Given the description of an element on the screen output the (x, y) to click on. 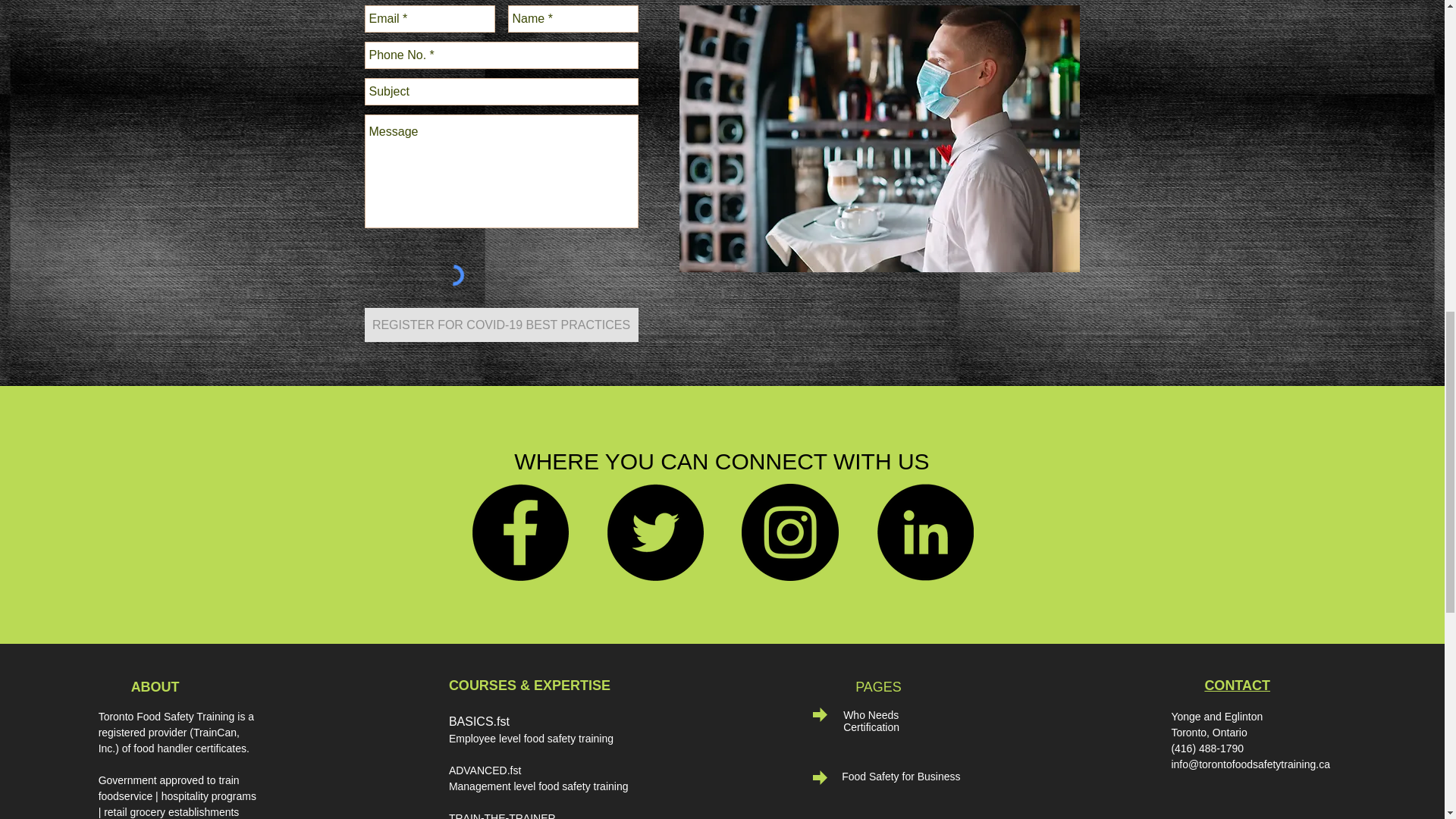
Food Safety for Business (900, 776)
CONTACT (1236, 685)
Who Needs Certification (871, 721)
REGISTER FOR COVID-19 BEST PRACTICES (500, 324)
